Given the description of an element on the screen output the (x, y) to click on. 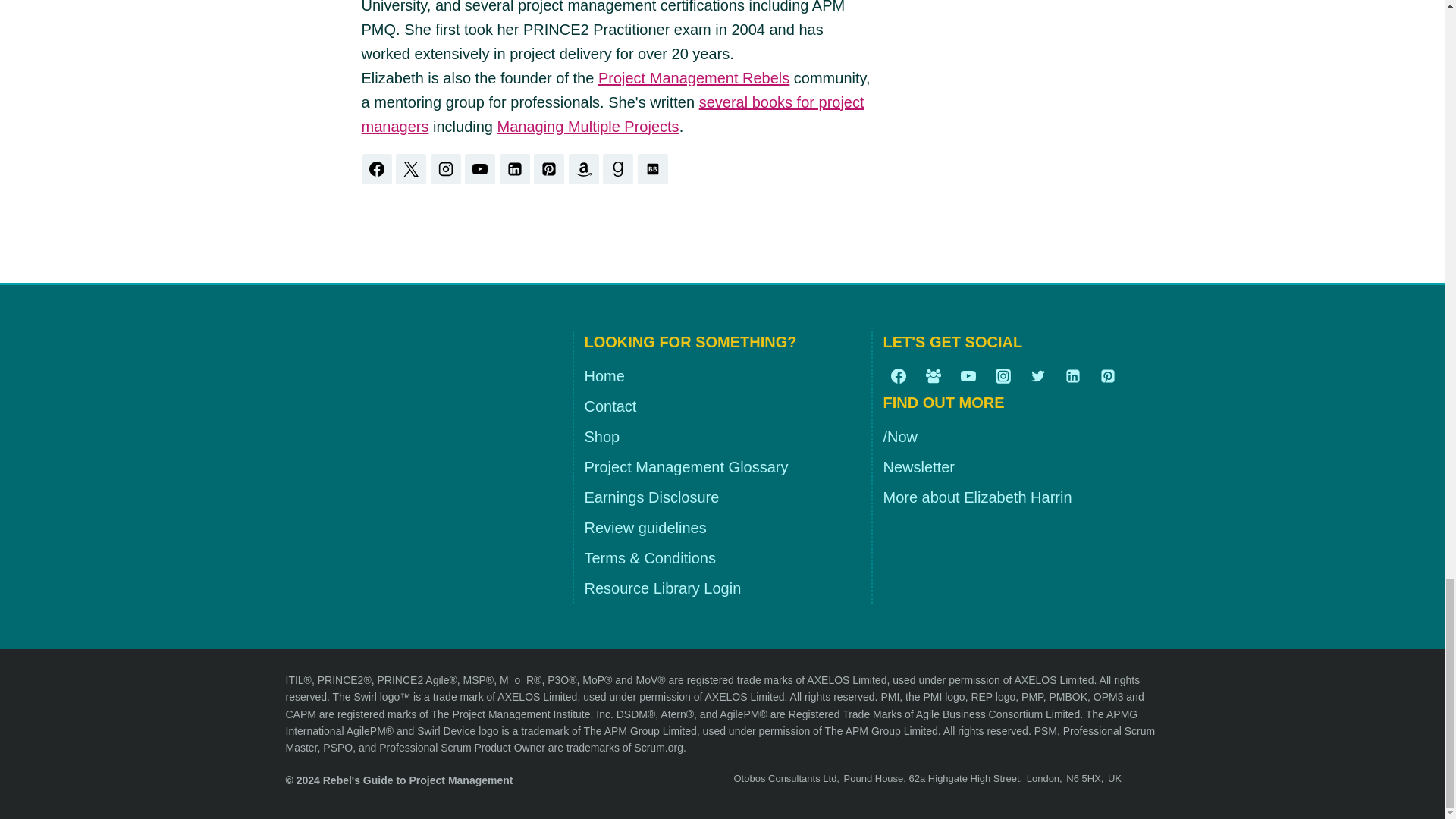
Follow Elizabeth Harrin on Facebook (376, 168)
Follow Elizabeth Harrin on Goodreads (617, 168)
Follow Elizabeth Harrin on Instagram (445, 168)
Follow Elizabeth Harrin on Linkedin (514, 168)
Follow Elizabeth Harrin on Youtube (479, 168)
Follow Elizabeth Harrin on Amazon (583, 168)
Follow Elizabeth Harrin on X formerly Twitter (411, 168)
Follow Elizabeth Harrin on Bookbub (652, 168)
Follow Elizabeth Harrin on Pinterest (549, 168)
